Given the description of an element on the screen output the (x, y) to click on. 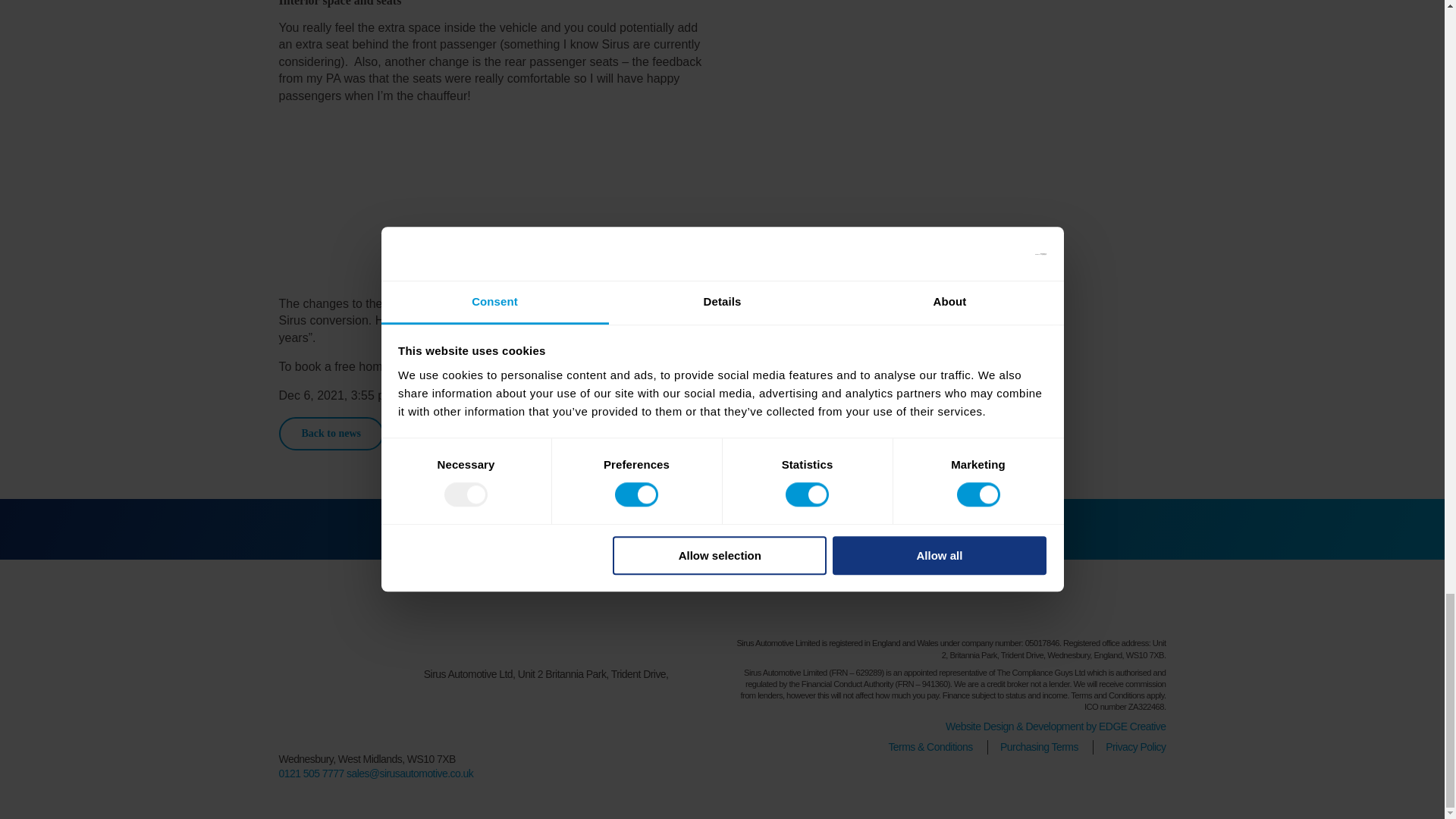
Facebook (1098, 611)
